Given the description of an element on the screen output the (x, y) to click on. 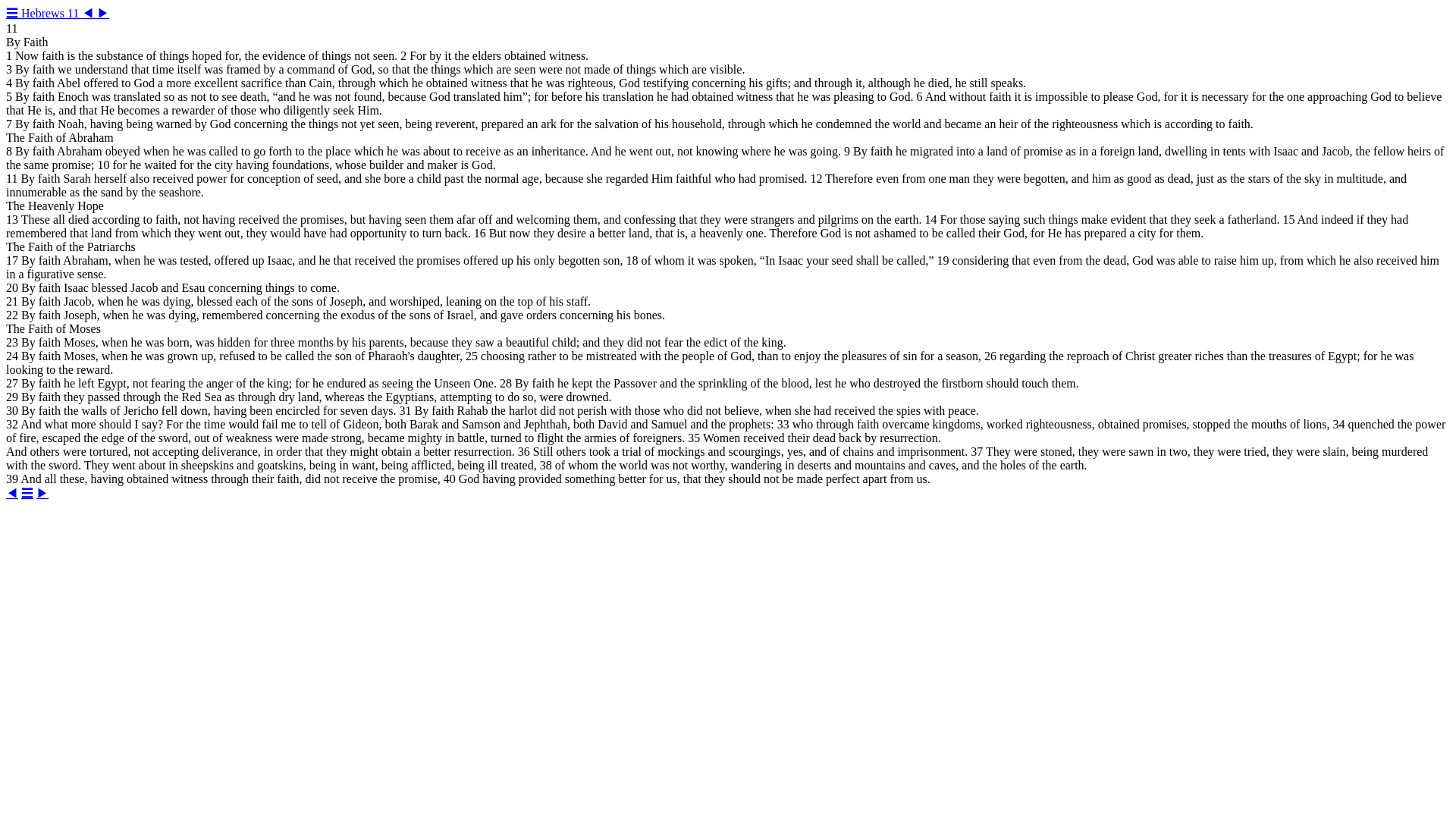
Hebrews 11 (51, 12)
